Given the description of an element on the screen output the (x, y) to click on. 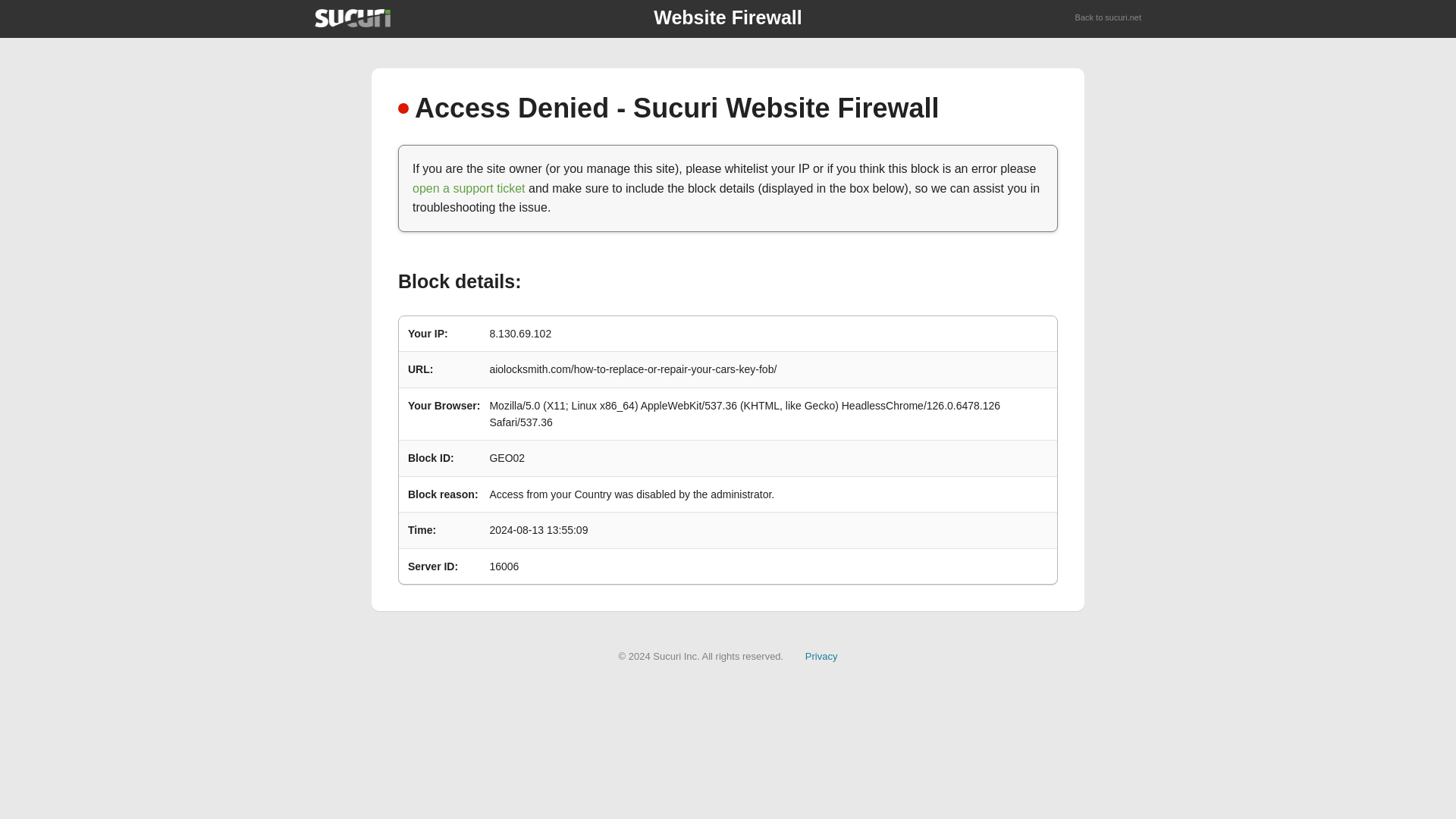
Back to sucuri.net (1108, 18)
open a support ticket (468, 187)
Privacy (821, 655)
